Given the description of an element on the screen output the (x, y) to click on. 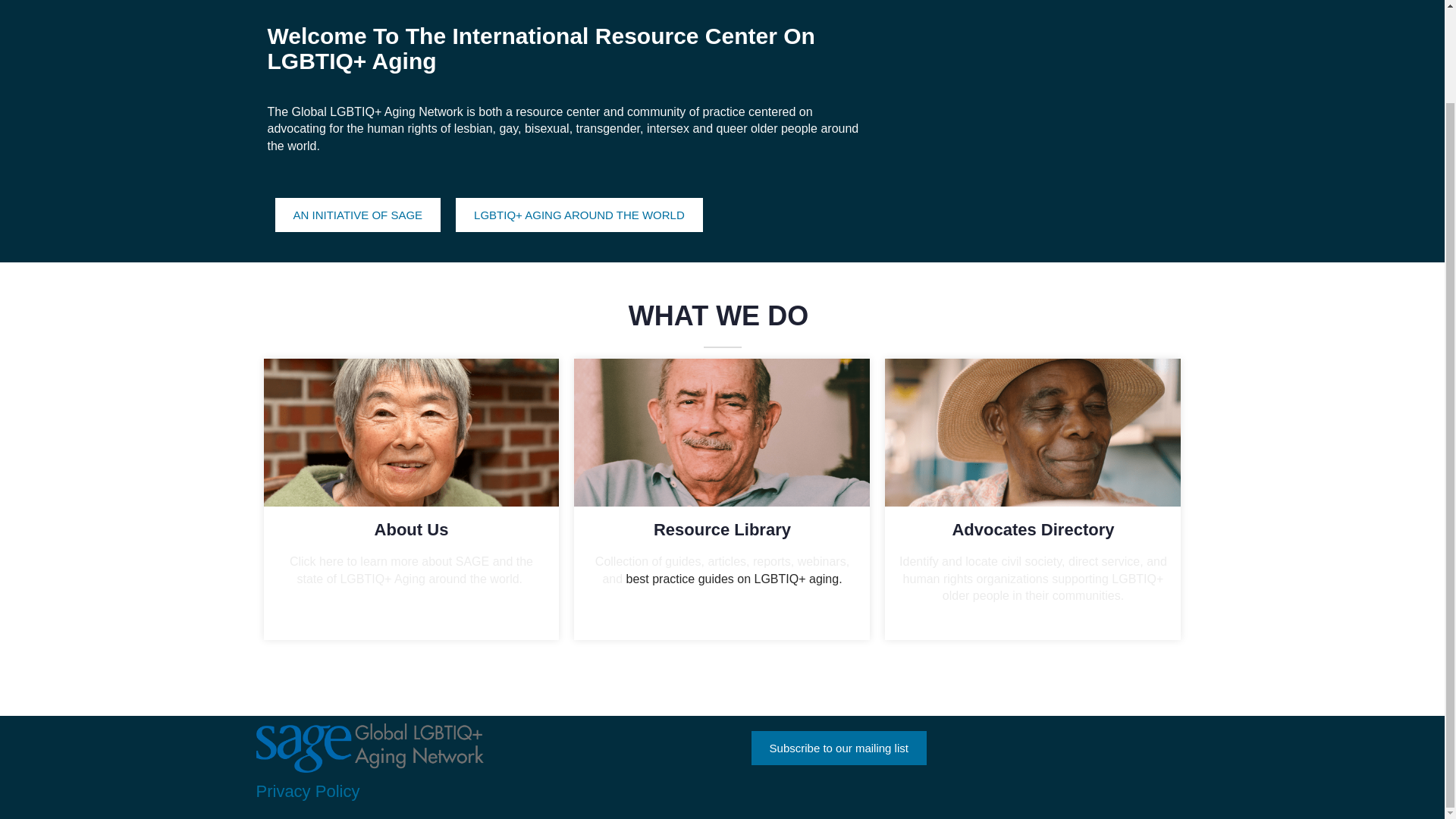
Advocates Directory (1032, 529)
Subscribe to our mailing list (838, 747)
AN INITIATIVE OF SAGE (358, 214)
Resource Library (721, 529)
Privacy Policy (307, 791)
About Us (411, 529)
